Given the description of an element on the screen output the (x, y) to click on. 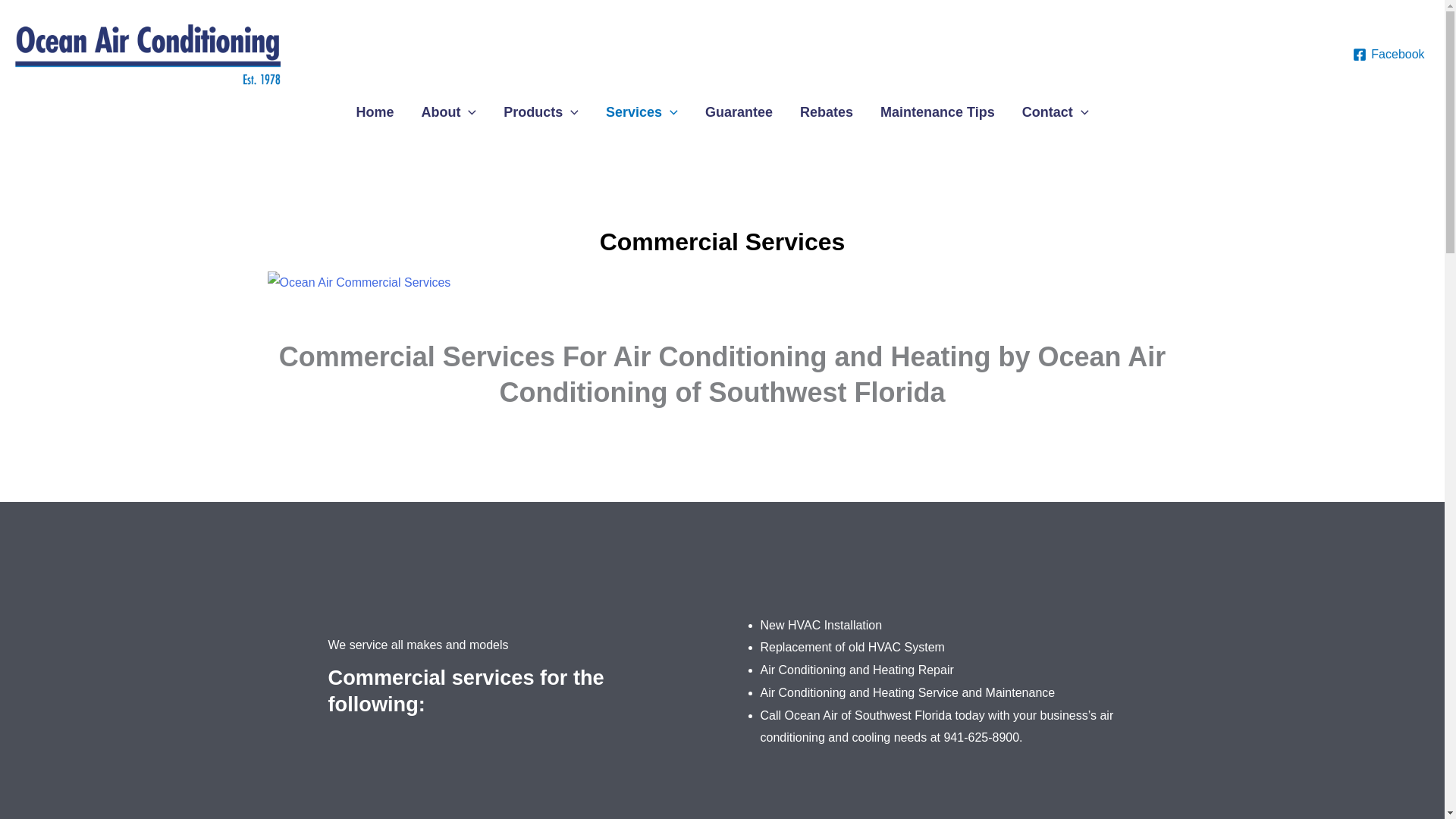
Contact (1055, 111)
About (448, 111)
Maintenance Tips (937, 111)
Rebates (826, 111)
Guarantee (738, 111)
Services (641, 111)
Products (540, 111)
Home (374, 111)
Facebook (1388, 54)
